Given the description of an element on the screen output the (x, y) to click on. 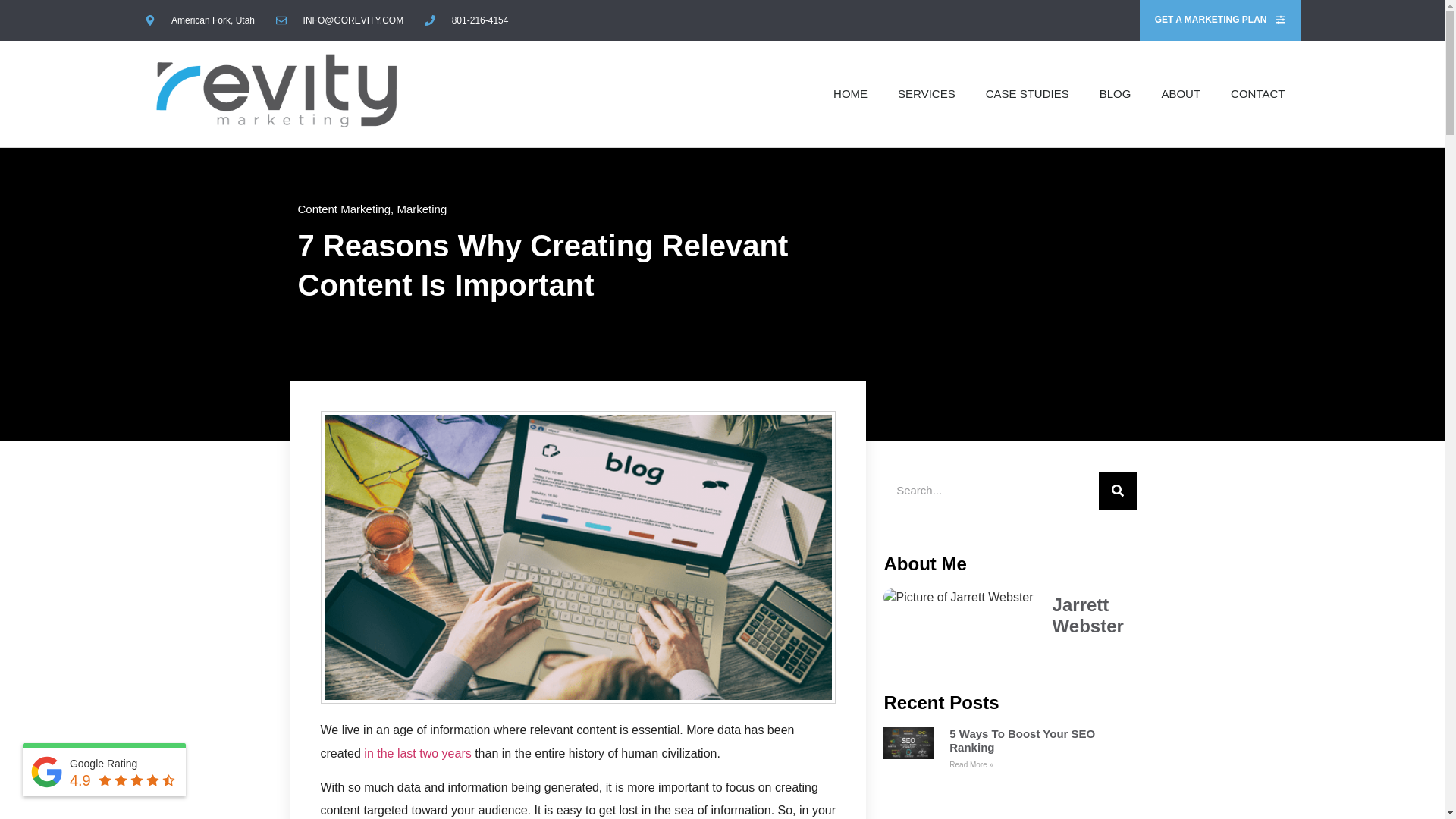
GET A MARKETING PLAN (1220, 20)
CASE STUDIES (1027, 93)
ABOUT (1180, 93)
801-216-4154 (466, 20)
BLOG (1115, 93)
SERVICES (926, 93)
CONTACT (1257, 93)
HOME (850, 93)
